Given the description of an element on the screen output the (x, y) to click on. 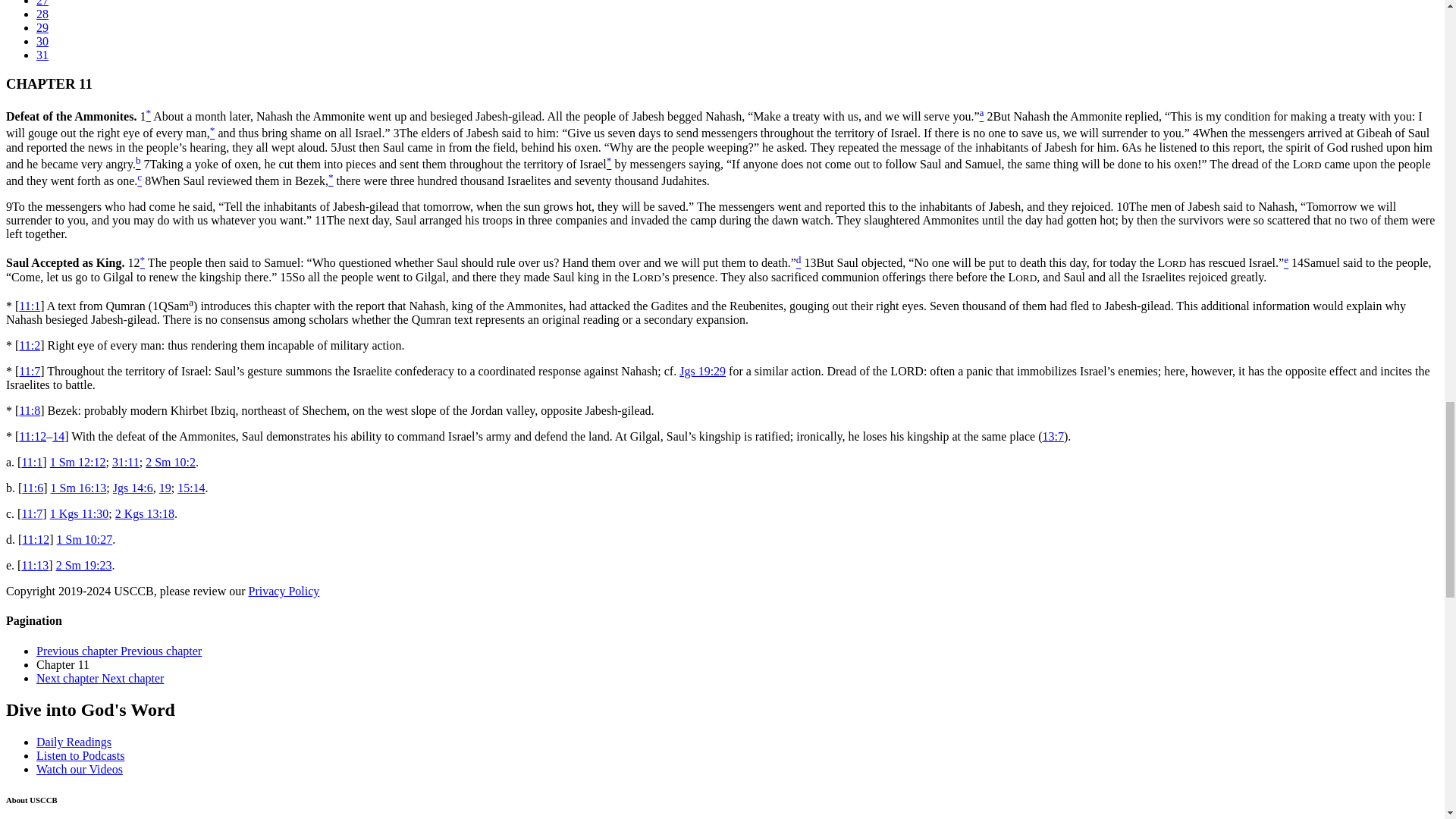
Go to previous page (119, 650)
Go to next page (99, 677)
